Given the description of an element on the screen output the (x, y) to click on. 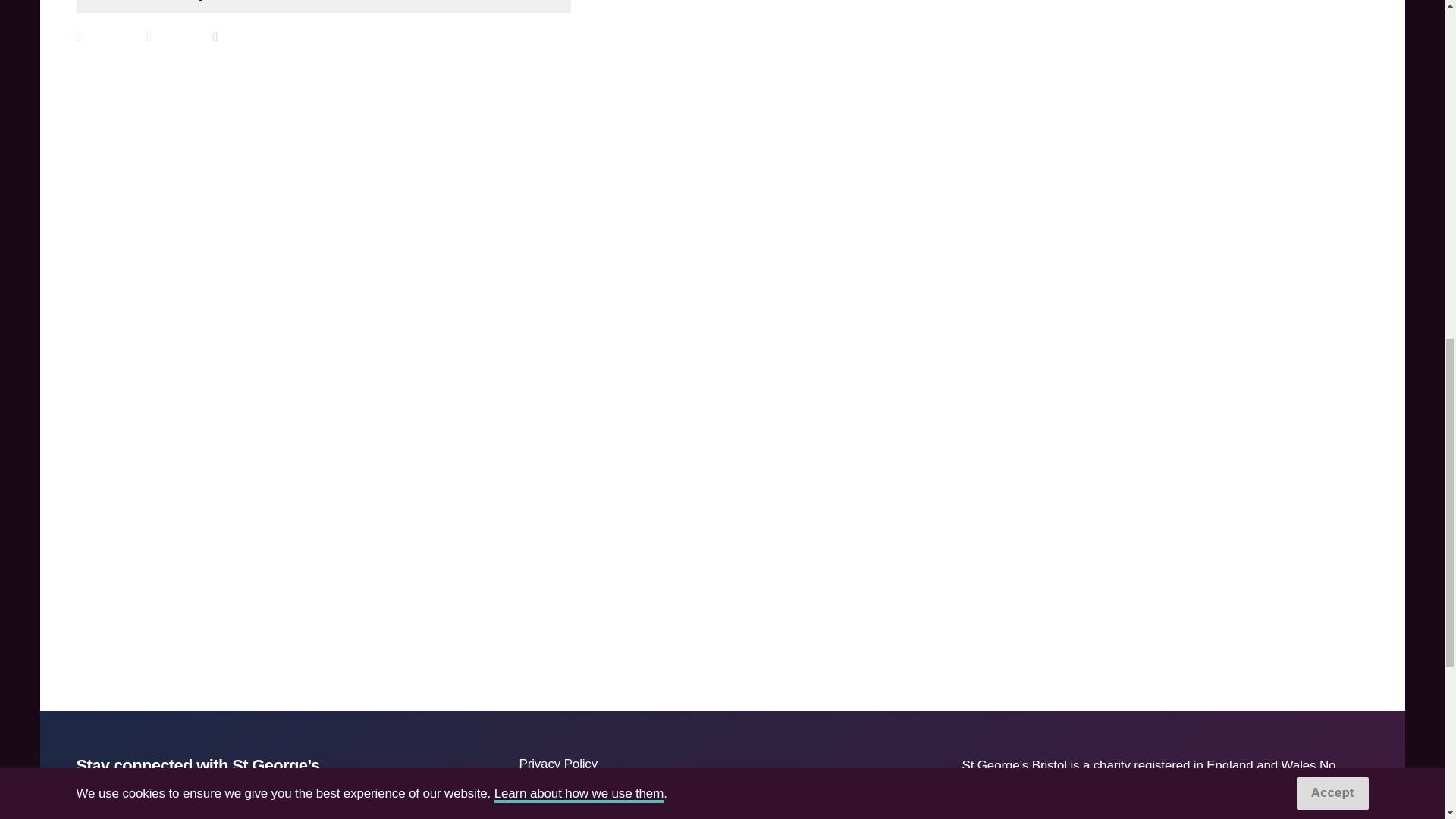
Access (538, 785)
Privacy Policy (557, 763)
Work With Us (556, 806)
Sign up for regular updates (172, 803)
